Given the description of an element on the screen output the (x, y) to click on. 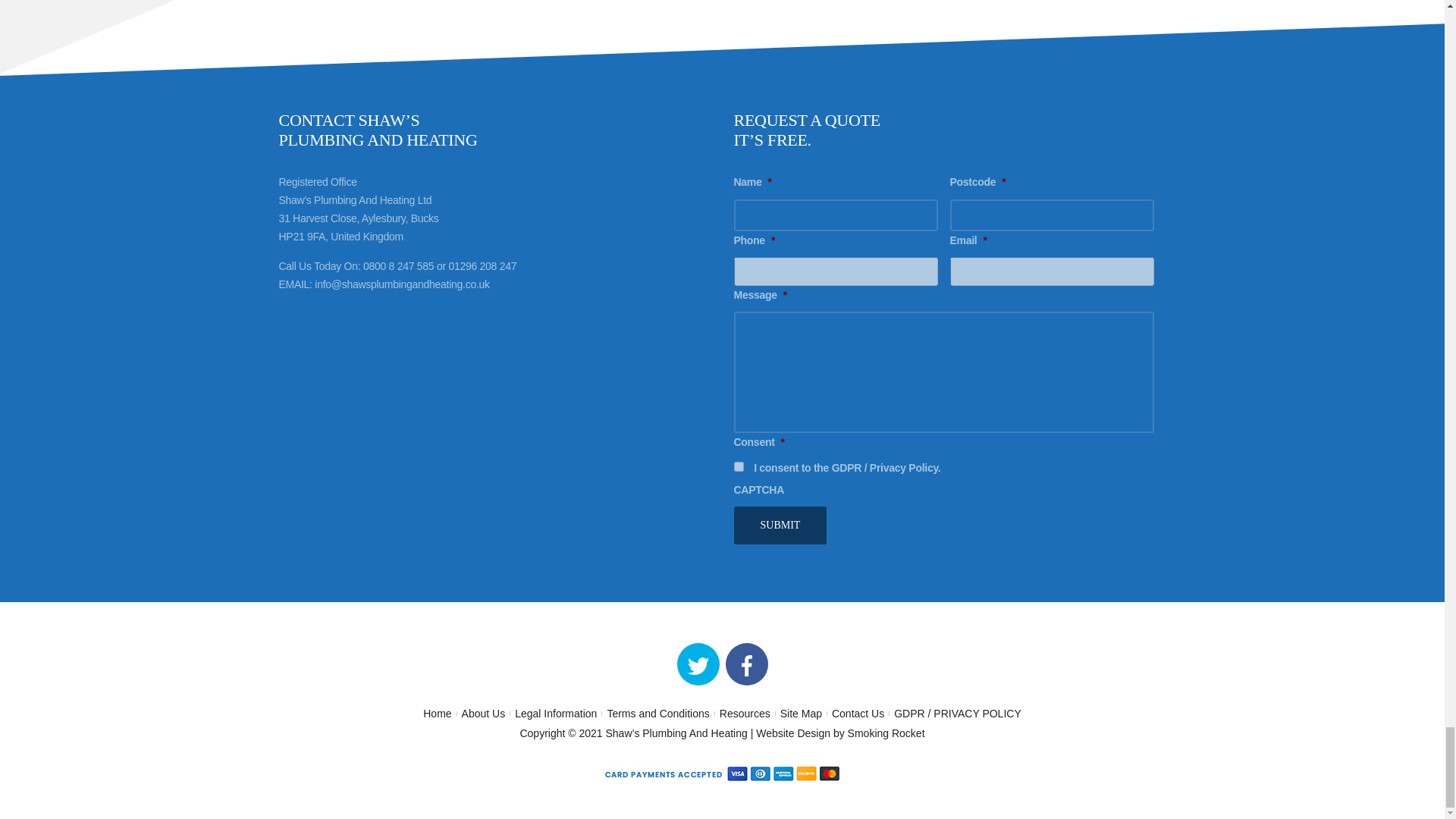
Submit (780, 525)
1 (738, 466)
0800 8 247 585 (679, 2)
01296 208 247 (765, 2)
0800 8 247 585 (397, 265)
